Given the description of an element on the screen output the (x, y) to click on. 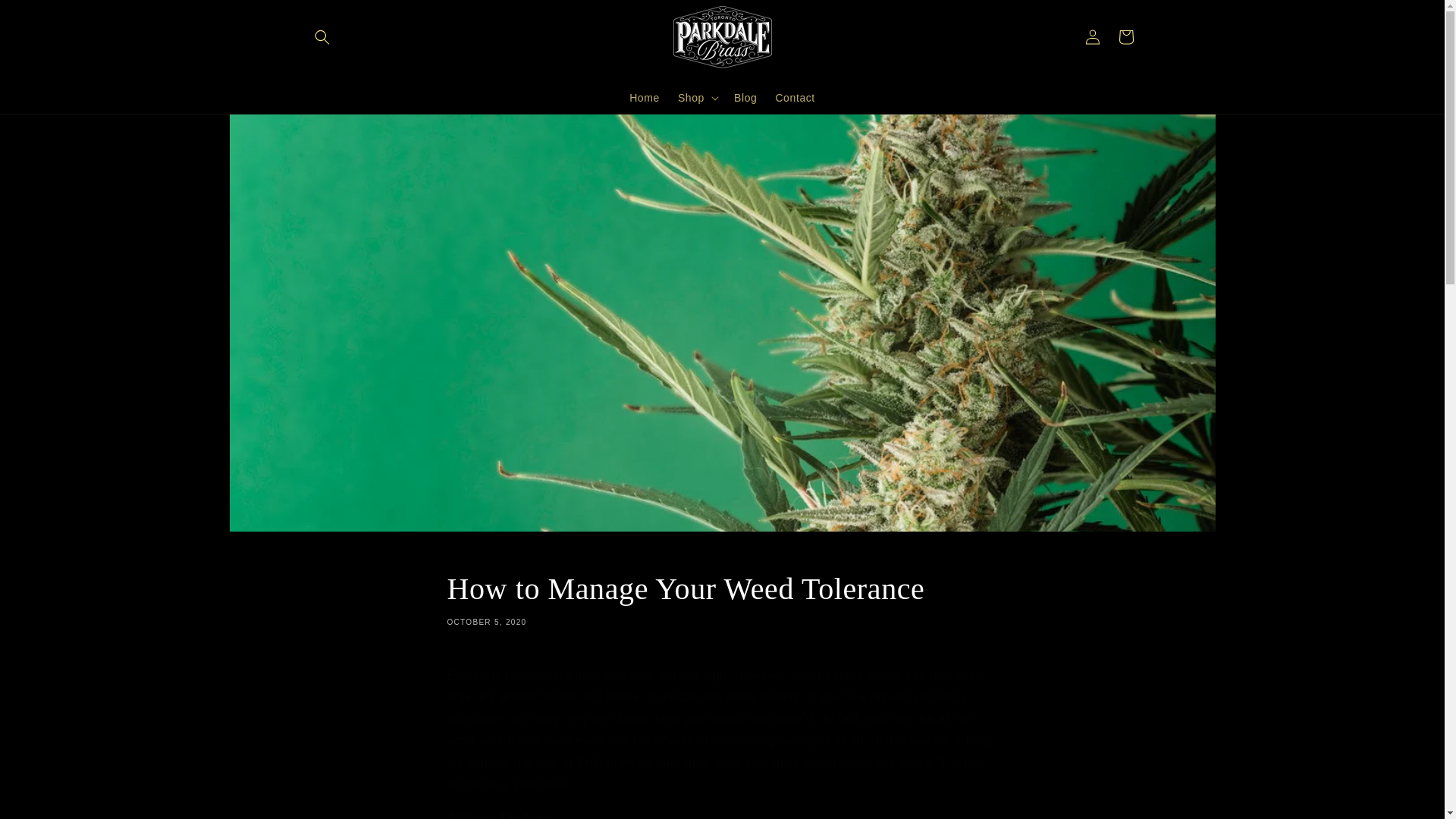
Log in (1091, 36)
Skip to content (45, 17)
Contact (721, 598)
Home (794, 97)
Blog (644, 97)
Cart (745, 97)
